Given the description of an element on the screen output the (x, y) to click on. 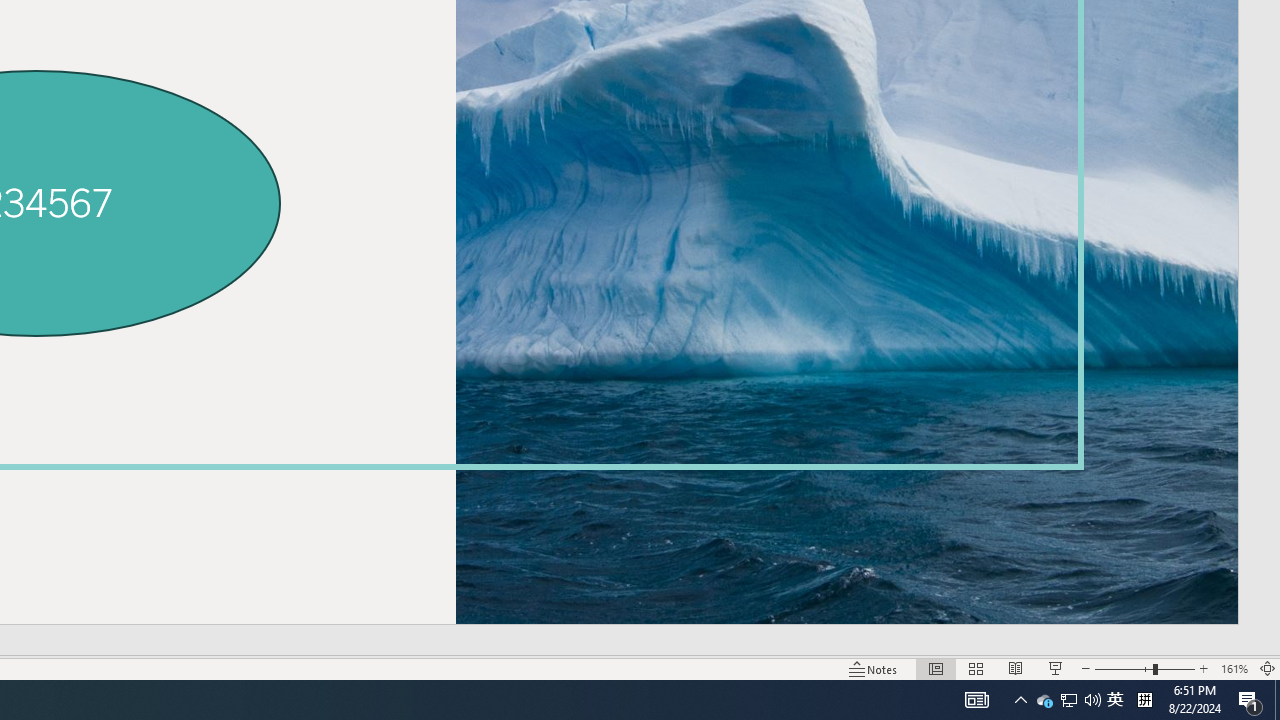
Zoom 161% (1234, 668)
